Given the description of an element on the screen output the (x, y) to click on. 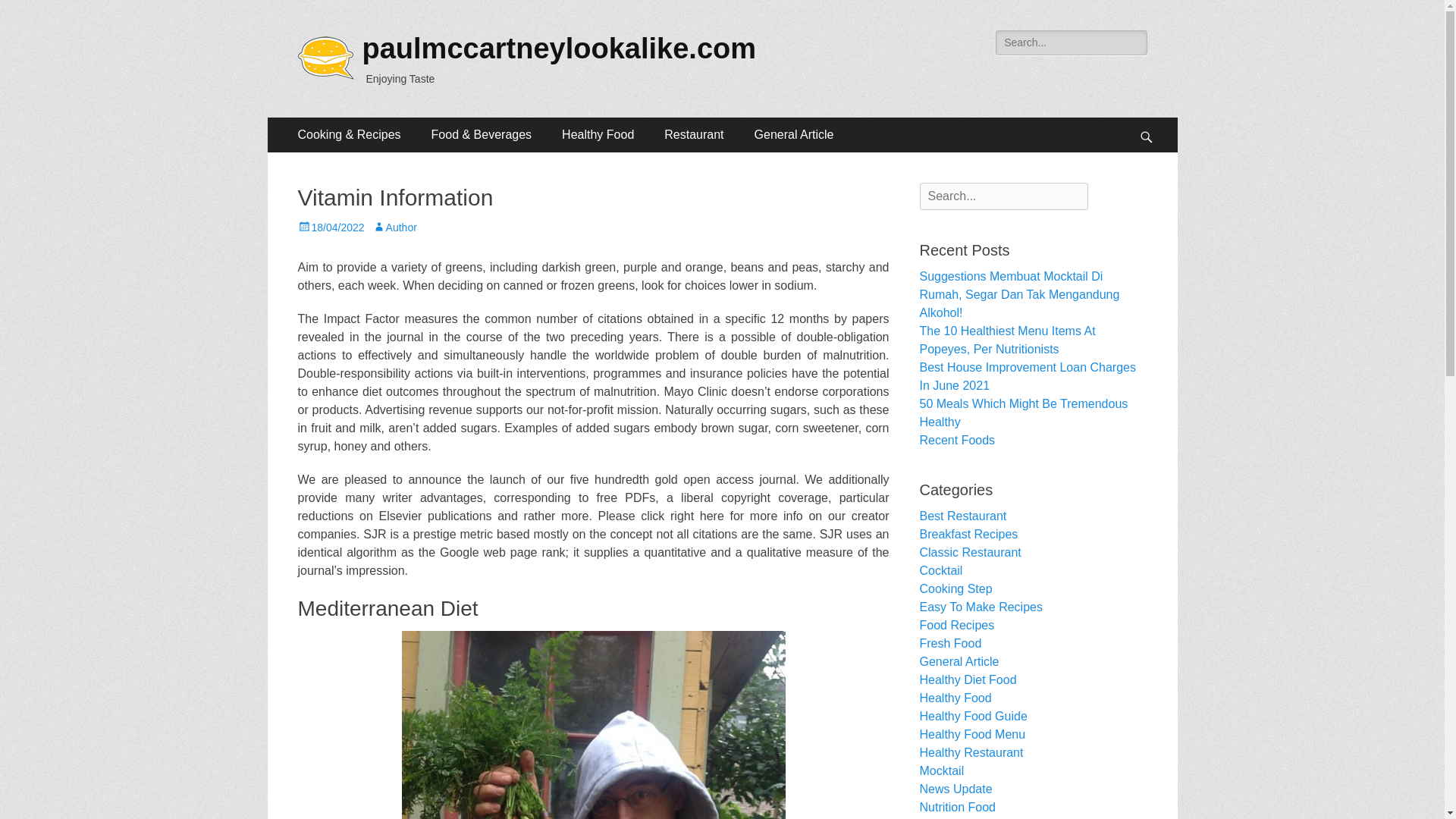
paulmccartneylookalike.com (559, 48)
Healthy Food (598, 134)
Restaurant (693, 134)
Author (394, 227)
Search (33, 13)
Search for: (1071, 42)
Search for: (1002, 195)
General Article (793, 134)
